Given the description of an element on the screen output the (x, y) to click on. 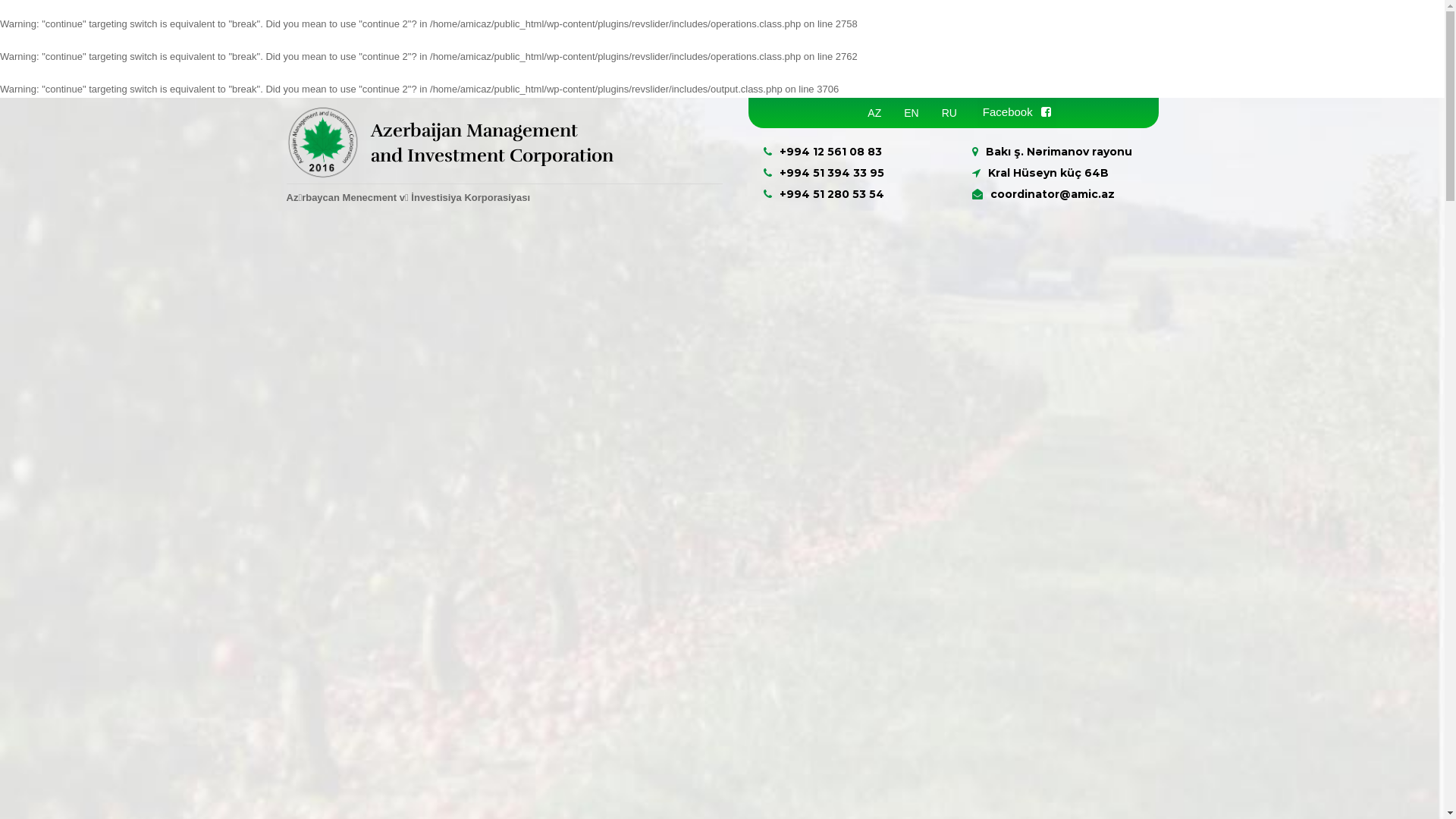
EN Element type: text (910, 112)
AZ Element type: text (873, 112)
RU Element type: text (949, 112)
Facebook Element type: text (1016, 112)
Azerbaijan Management
and Investment Corporation Element type: text (491, 143)
AMIC Element type: hover (323, 141)
